Given the description of an element on the screen output the (x, y) to click on. 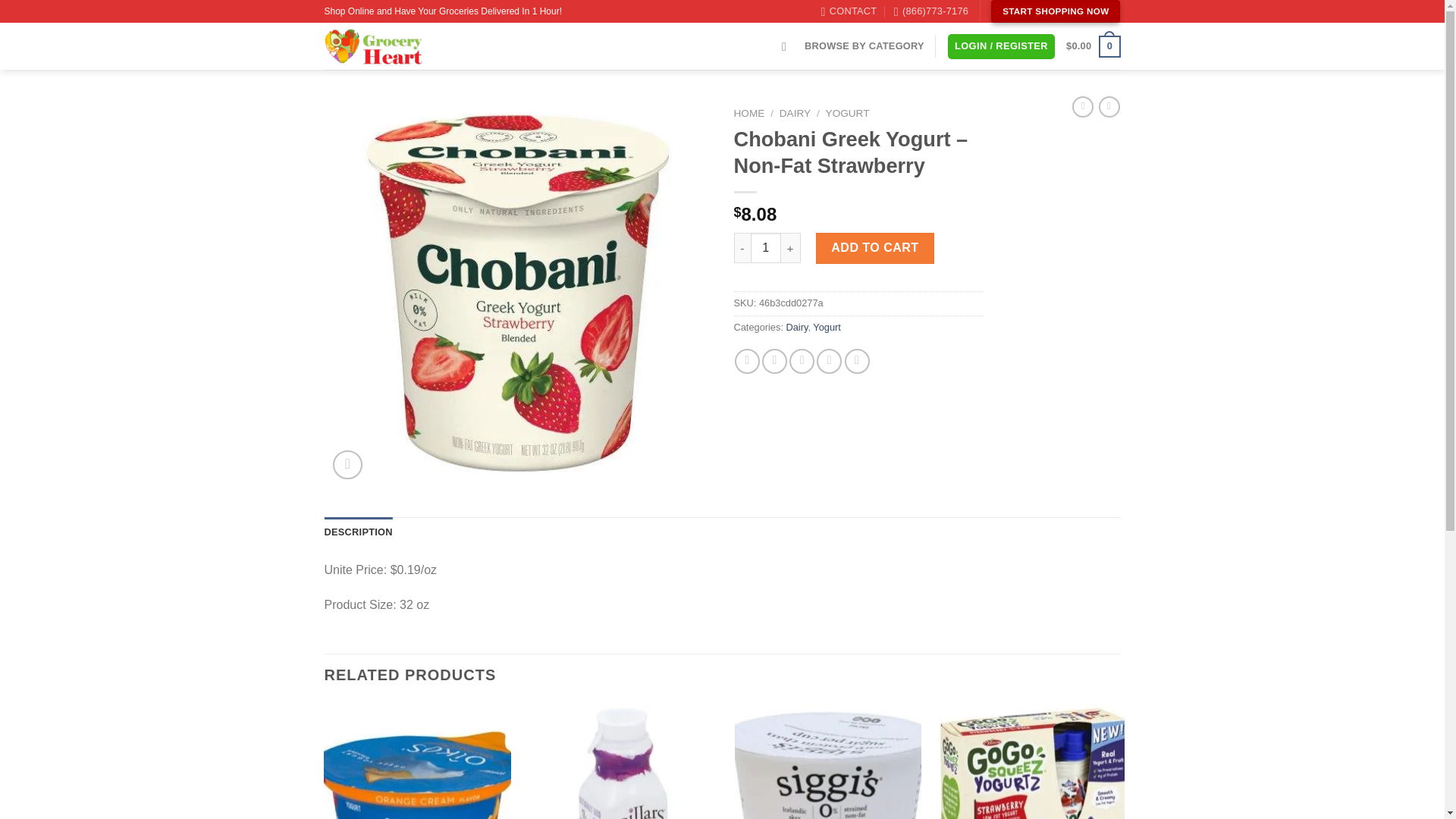
Dairy (797, 326)
Grocery Heart - Grocery Delivery Service (409, 45)
BROWSE BY CATEGORY (864, 45)
START SHOPPING NOW (1055, 11)
Cart (1092, 46)
Pin on Pinterest (828, 360)
DESCRIPTION (358, 531)
Email to a Friend (801, 360)
Share on Twitter (774, 360)
CONTACT (849, 11)
DAIRY (794, 112)
Share on Facebook (747, 360)
Qty (765, 247)
Zoom (347, 464)
